Given the description of an element on the screen output the (x, y) to click on. 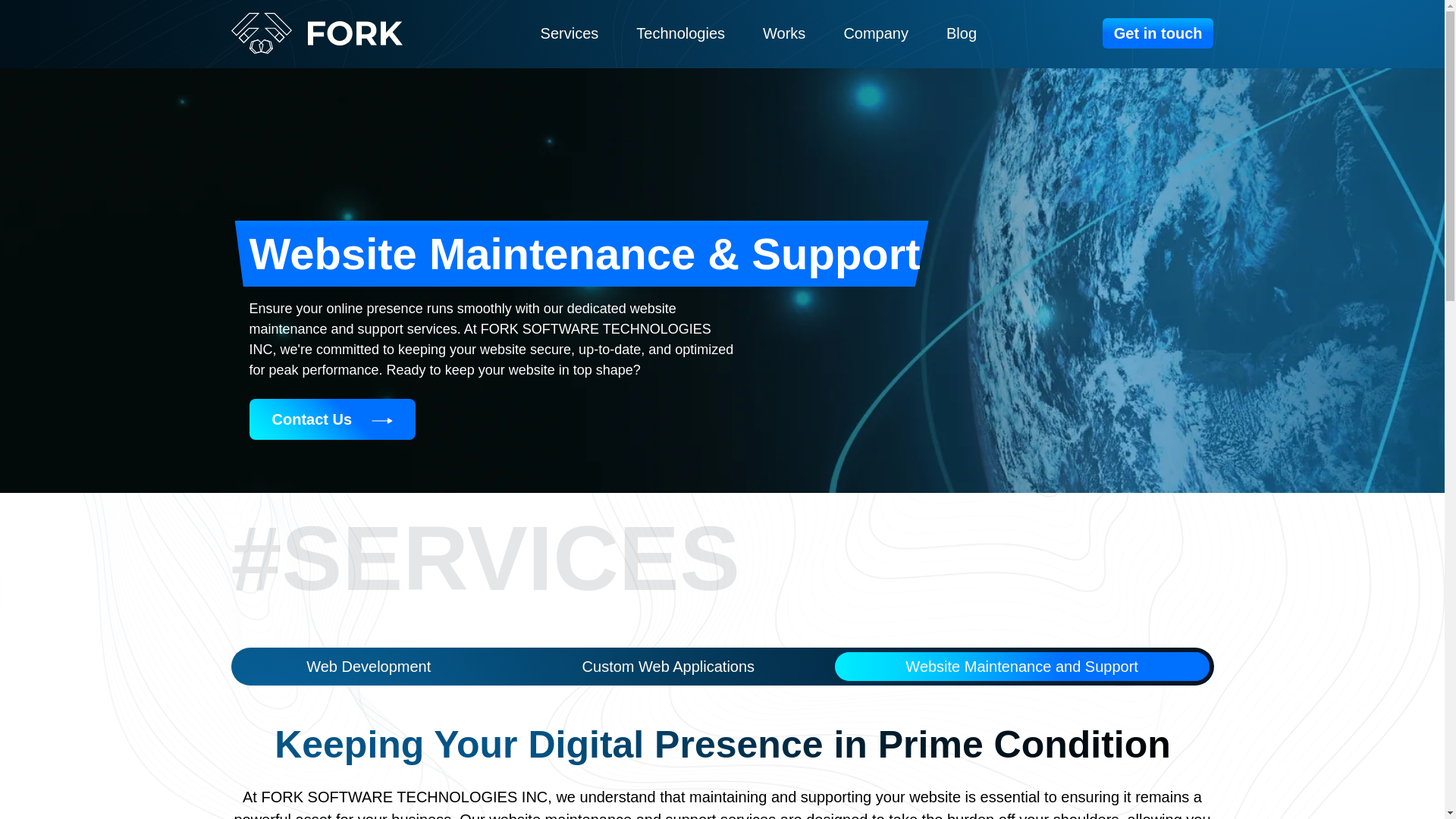
Get in touch (1158, 33)
Works (784, 33)
Technologies (680, 33)
Blog (961, 33)
Services (569, 33)
Company (875, 33)
